Given the description of an element on the screen output the (x, y) to click on. 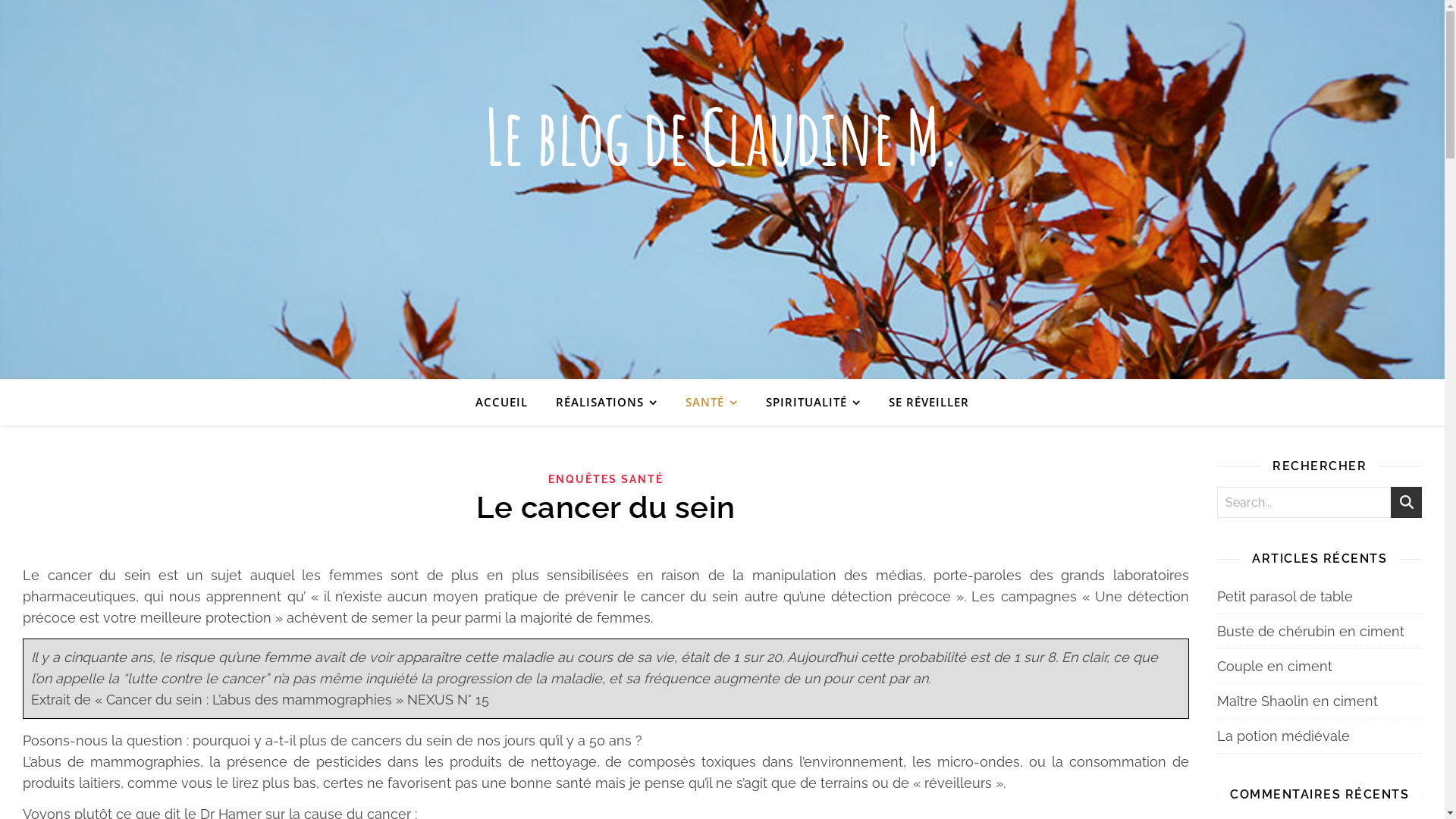
Couple en ciment Element type: text (1274, 666)
Le blog de Claudine M. Element type: hover (722, 189)
ACCUEIL Element type: text (507, 401)
Le blog de Claudine M. Element type: text (721, 136)
Petit parasol de table Element type: text (1284, 596)
st Element type: text (1405, 501)
